Given the description of an element on the screen output the (x, y) to click on. 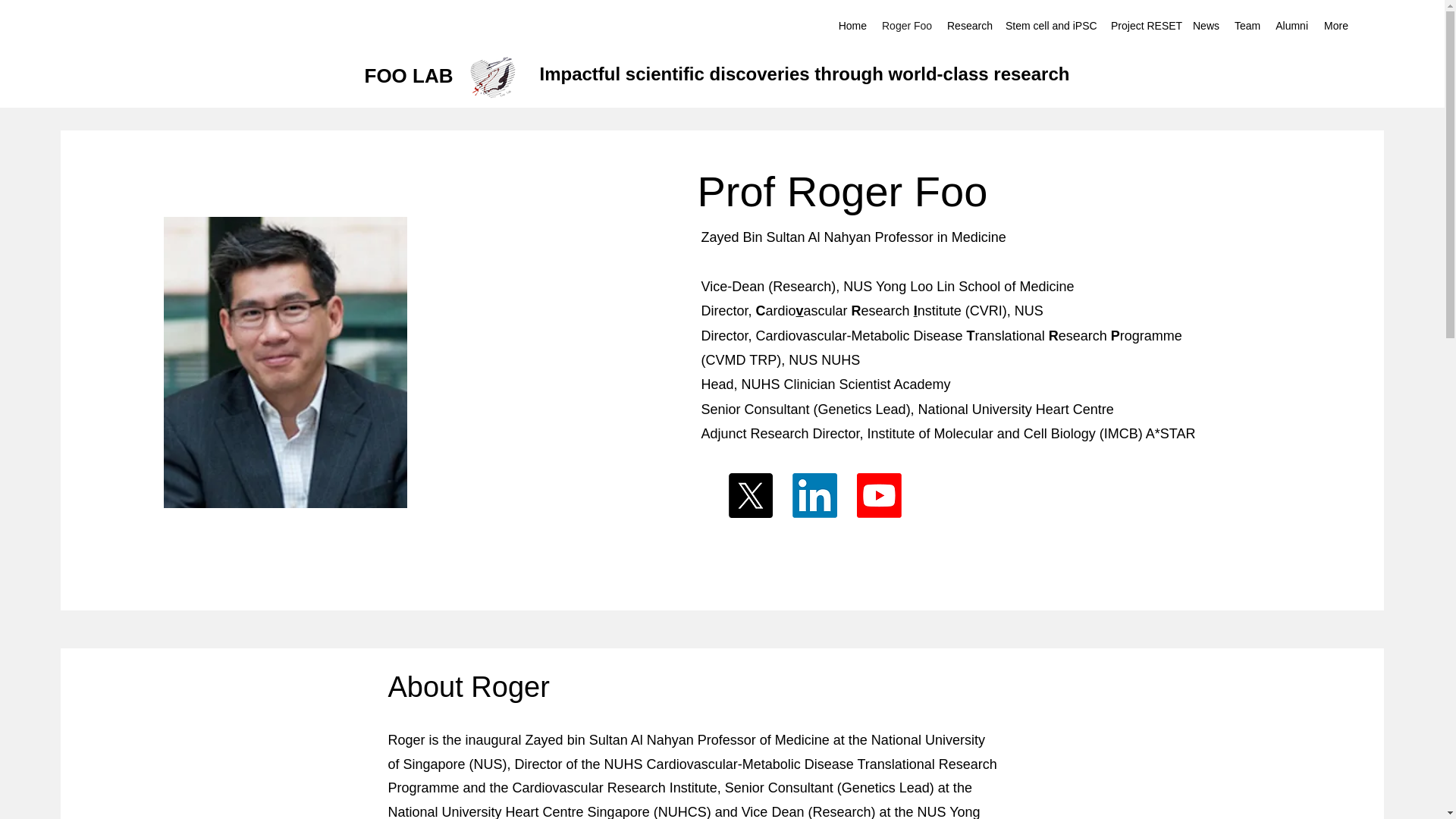
Roger Foo (907, 26)
Research (968, 26)
Project RESET (1144, 26)
Home (852, 26)
Alumni (1291, 26)
Team (1246, 26)
Stem cell and iPSC (1050, 26)
News (1206, 26)
